Given the description of an element on the screen output the (x, y) to click on. 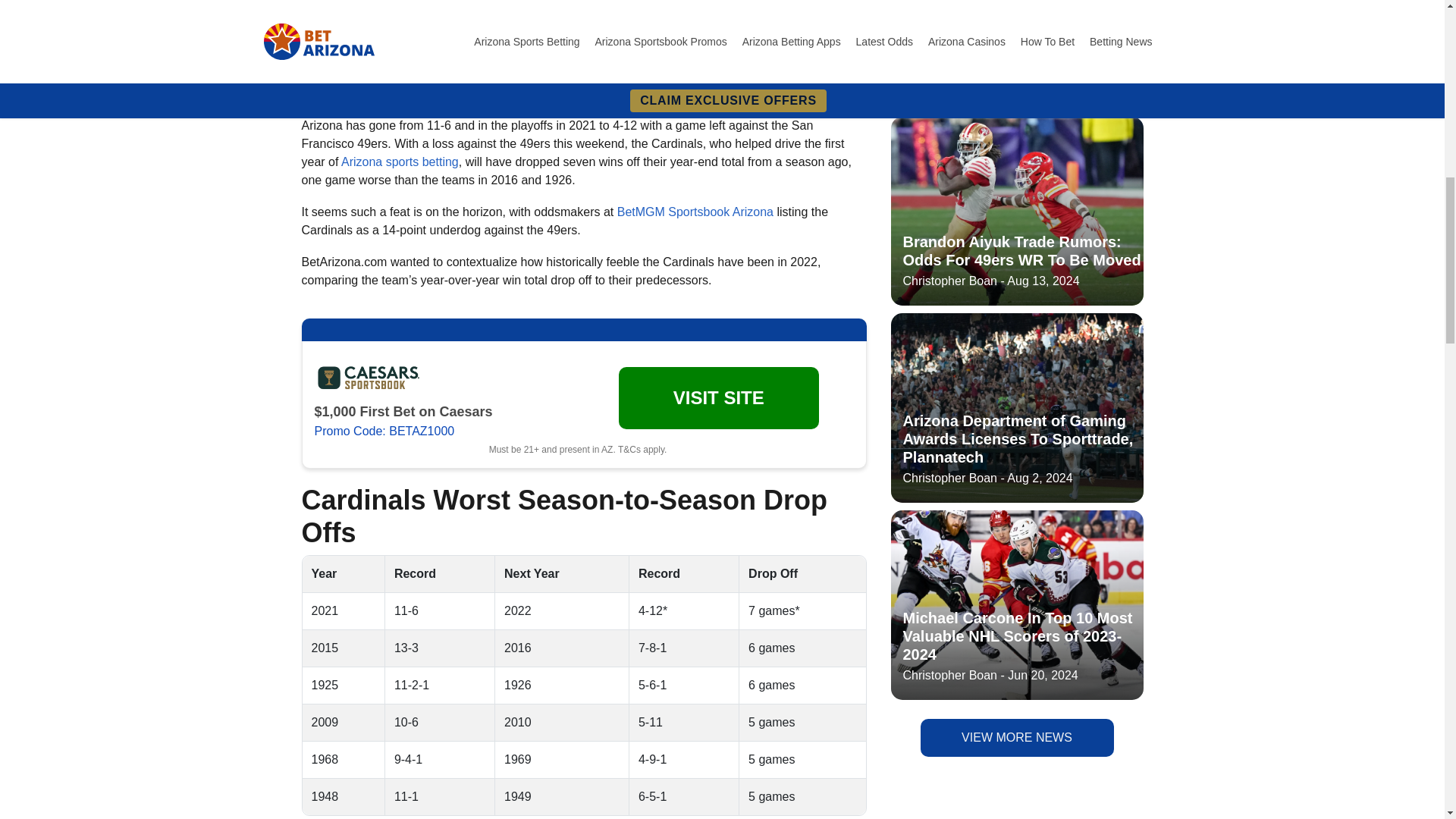
Caesars Sports (368, 376)
BetMGM Sports (368, 1)
